Given the description of an element on the screen output the (x, y) to click on. 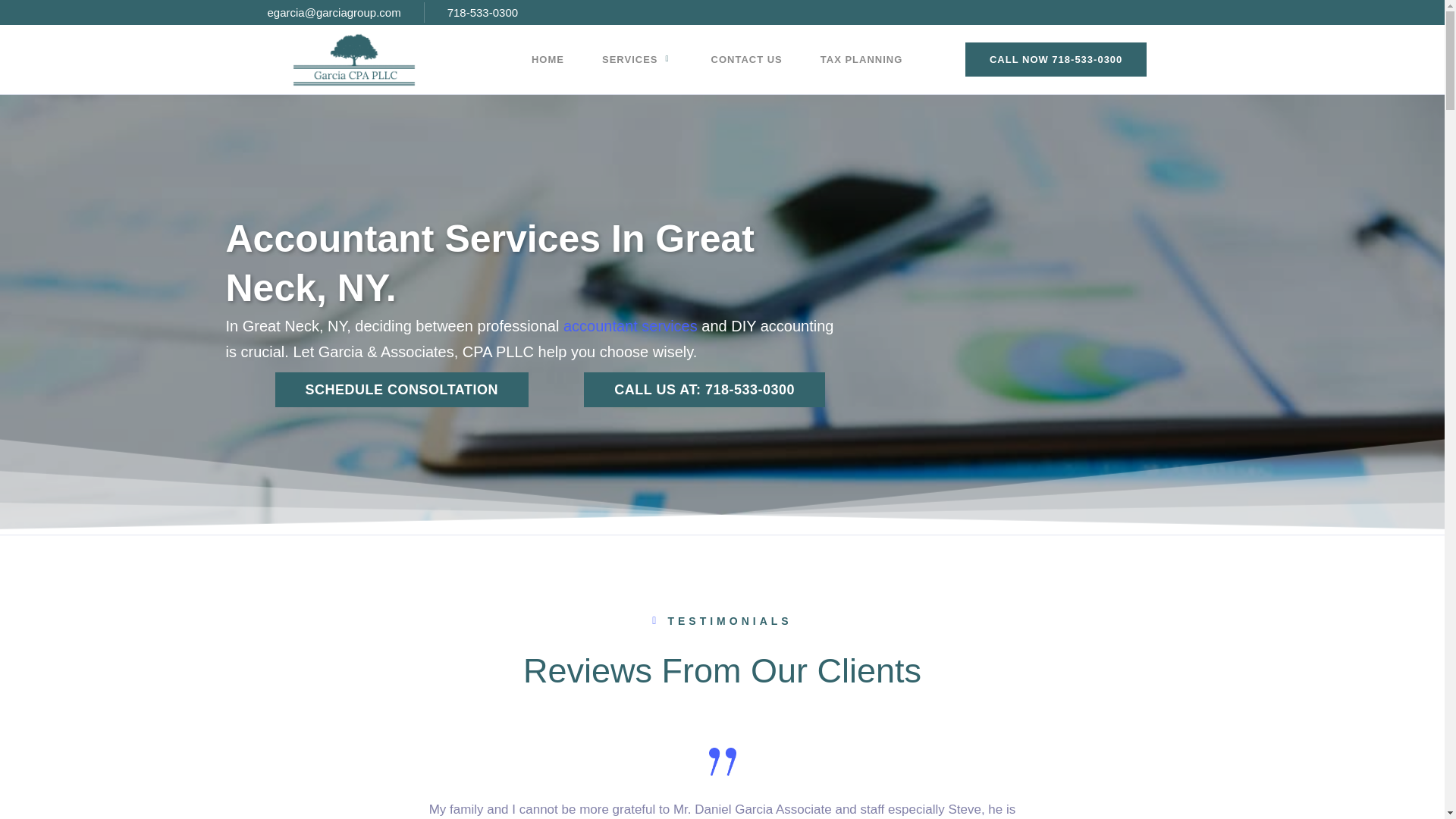
HOME (547, 58)
SCHEDULE CONSOLTATION (401, 389)
Accountant Services In Great Neck, NY. (534, 263)
Reviews From Our Clients (721, 689)
SCHEDULE CONSOLTATION (401, 389)
accountant services (630, 325)
718-533-0300 (471, 11)
CONTACT US (747, 58)
TESTIMONIALS (722, 625)
CALL NOW 718-533-0300 (1071, 59)
CALL US AT: 718-533-0300 (699, 58)
CALL NOW 718-533-0300 (704, 389)
CALL US AT: 718-533-0300 (1056, 66)
accountant services (704, 389)
